Given the description of an element on the screen output the (x, y) to click on. 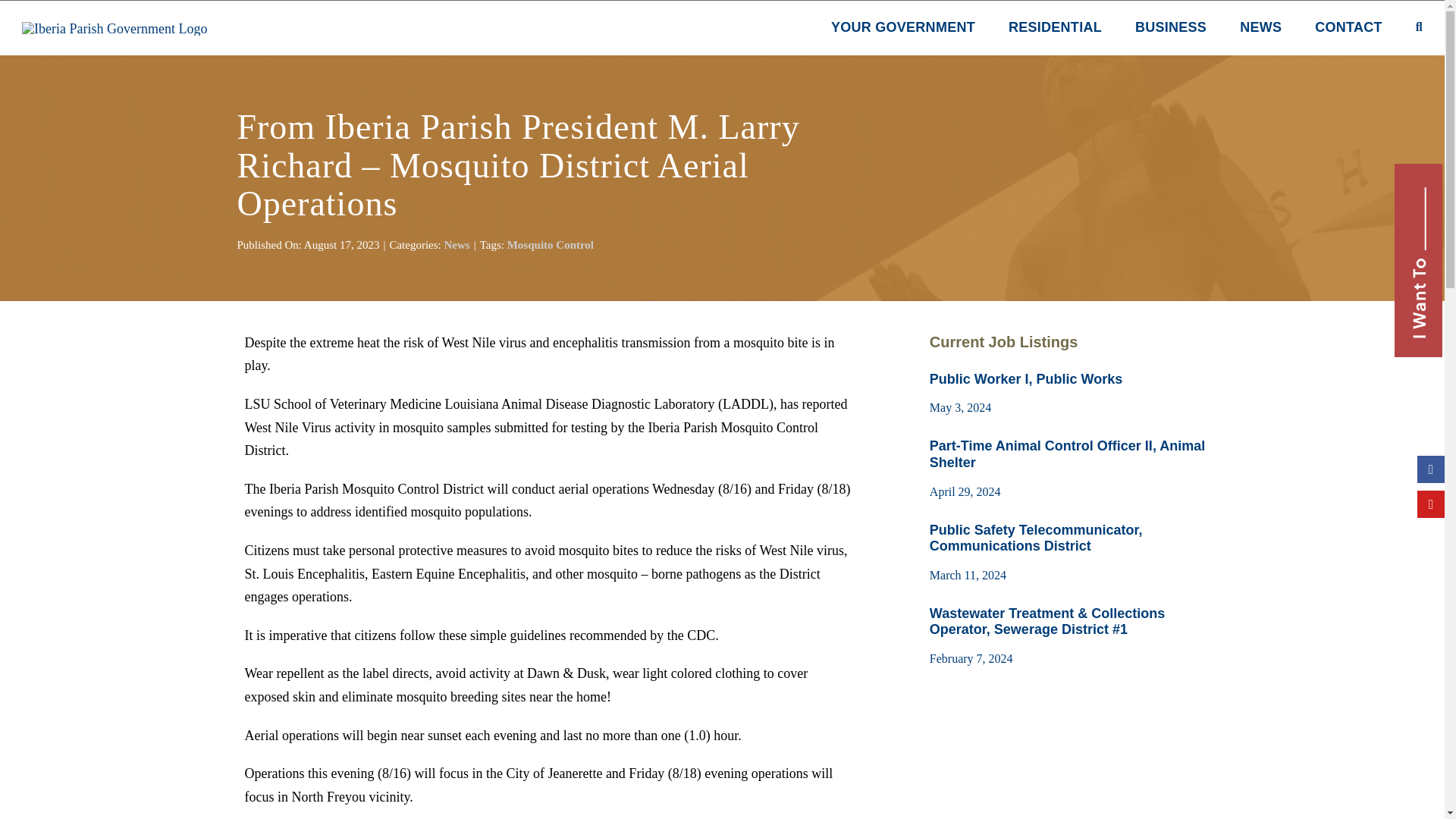
YOUR GOVERNMENT (903, 28)
